Given the description of an element on the screen output the (x, y) to click on. 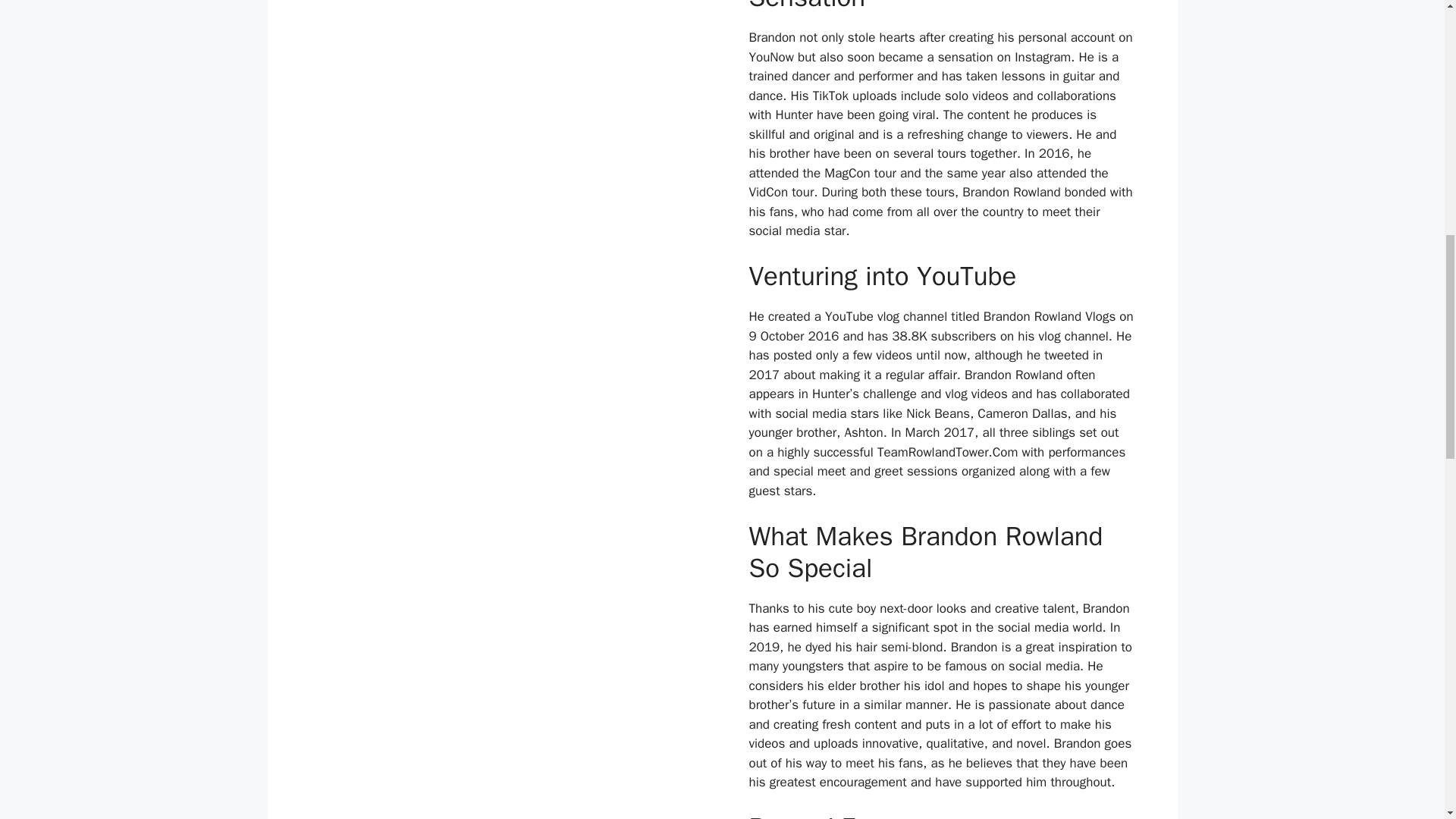
YouTube video player (501, 50)
